Given the description of an element on the screen output the (x, y) to click on. 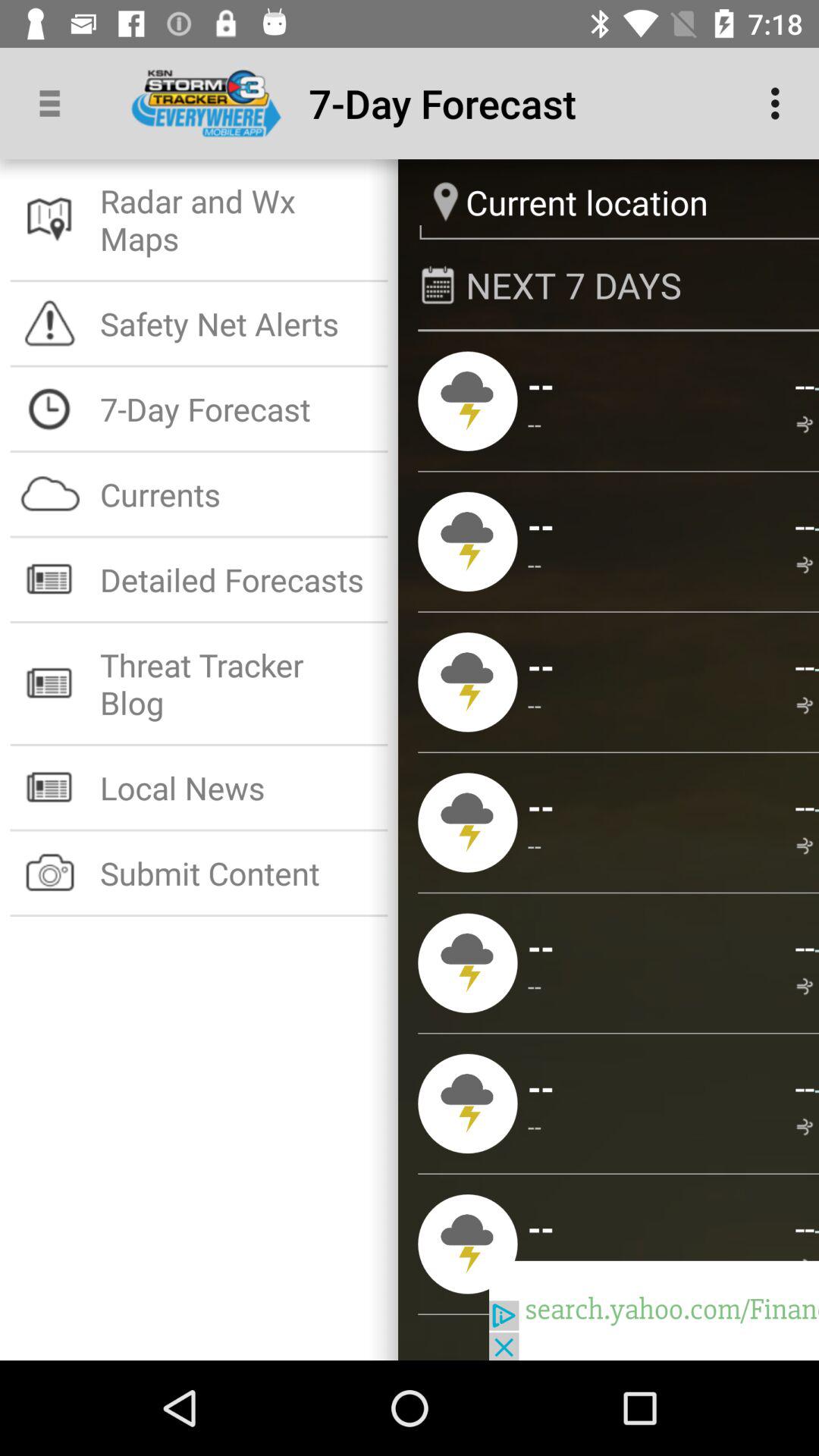
select the icon to the right of -- icon (807, 565)
